Given the description of an element on the screen output the (x, y) to click on. 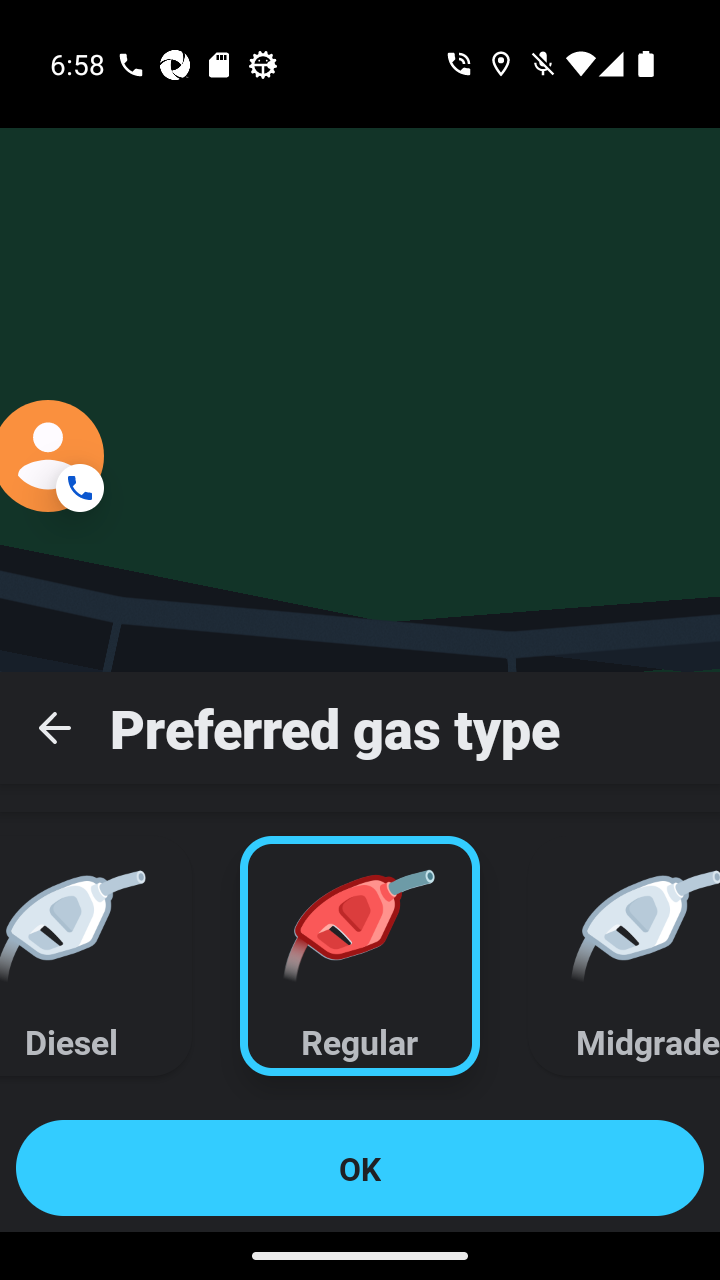
Diesel (108, 955)
Regular (359, 955)
Midgrade (611, 955)
OK (359, 1168)
